Given the description of an element on the screen output the (x, y) to click on. 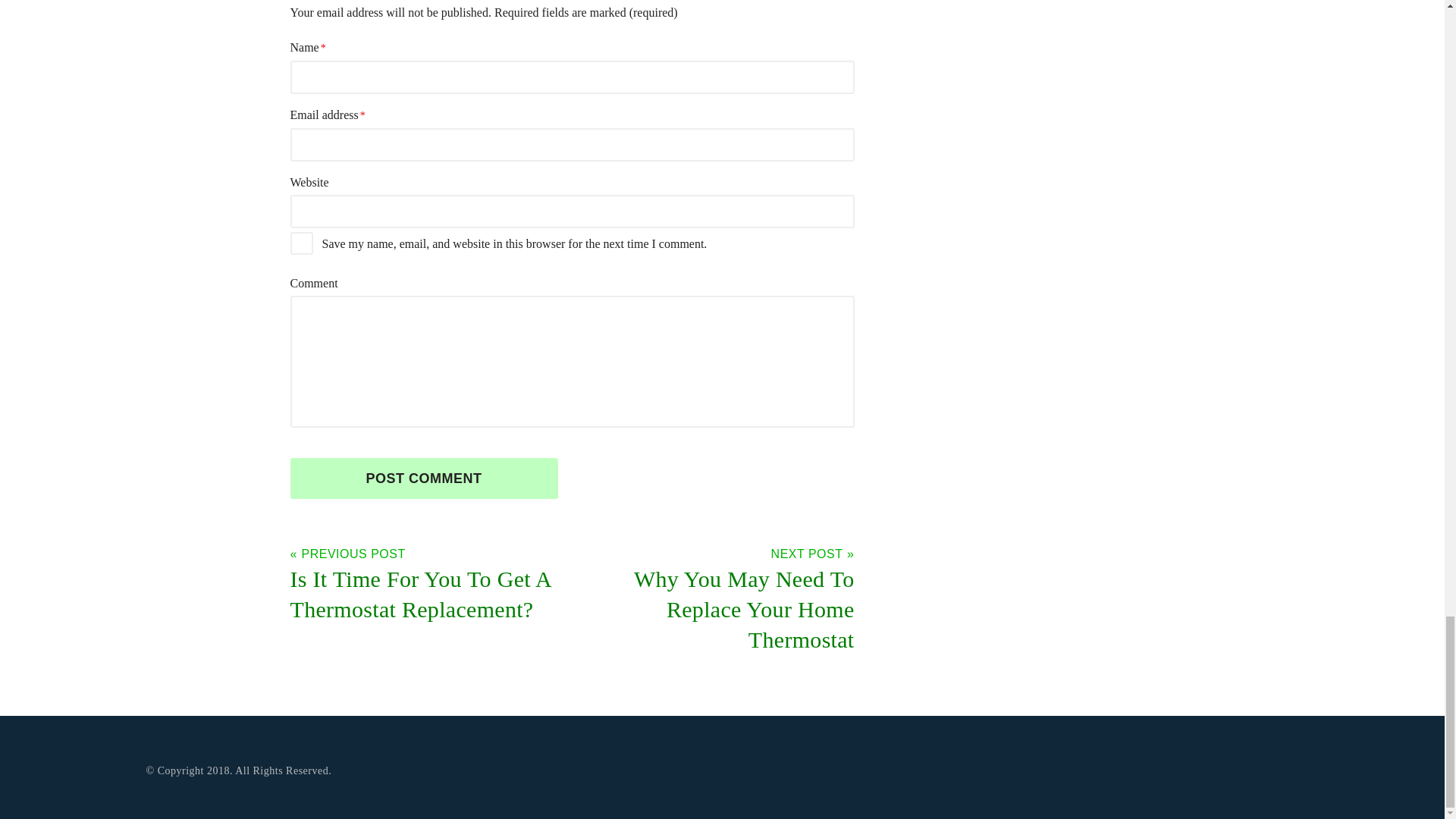
Post Comment (423, 477)
